Given the description of an element on the screen output the (x, y) to click on. 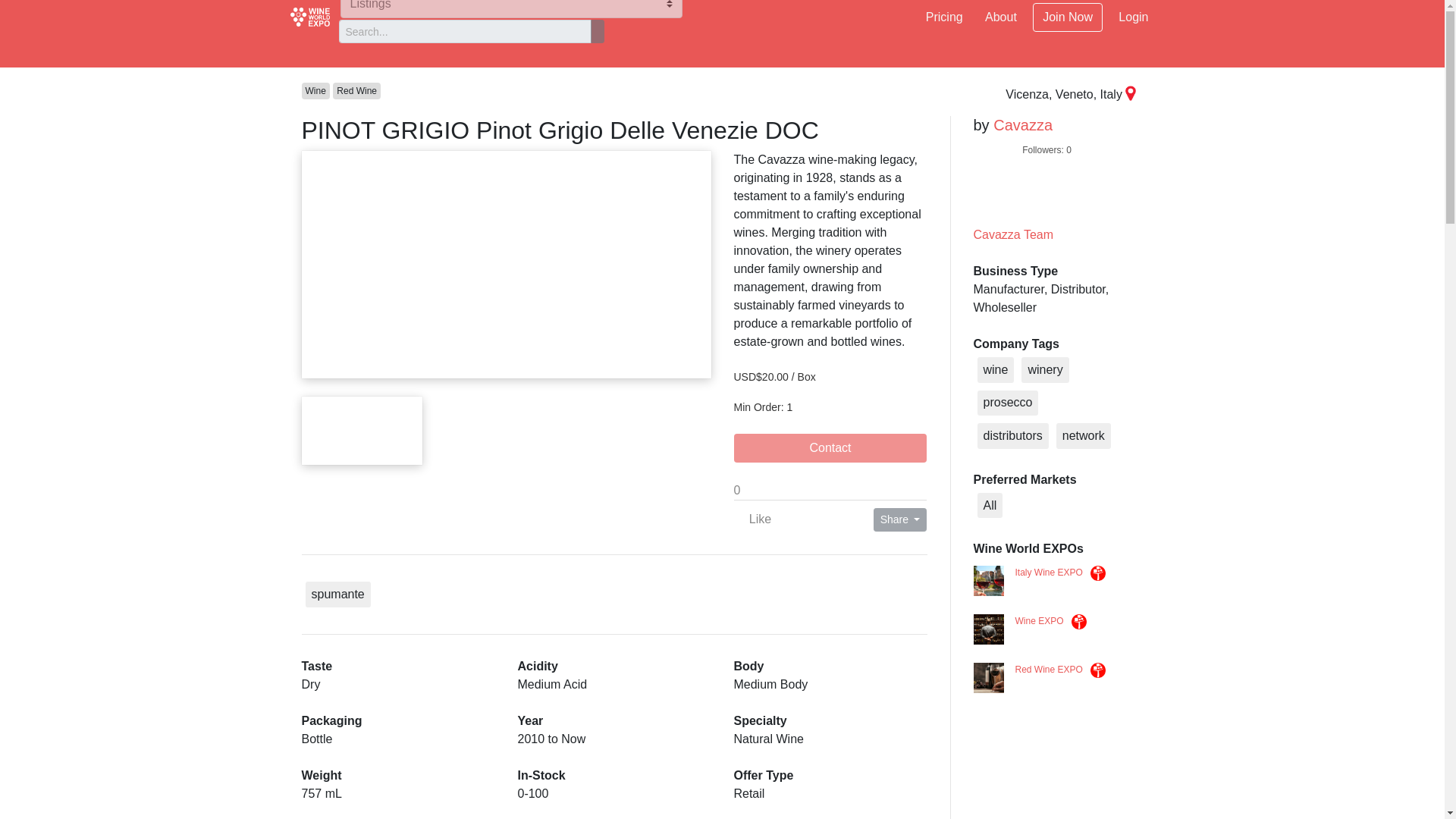
Wine EXPO (1038, 621)
Share (900, 519)
Red Wine EXPO (1047, 670)
Italy Wine EXPO (1047, 573)
About (1000, 16)
Contact (830, 448)
Pricing (944, 16)
Cavazza (1022, 125)
Cavazza Team (1014, 234)
Login (1133, 16)
